Given the description of an element on the screen output the (x, y) to click on. 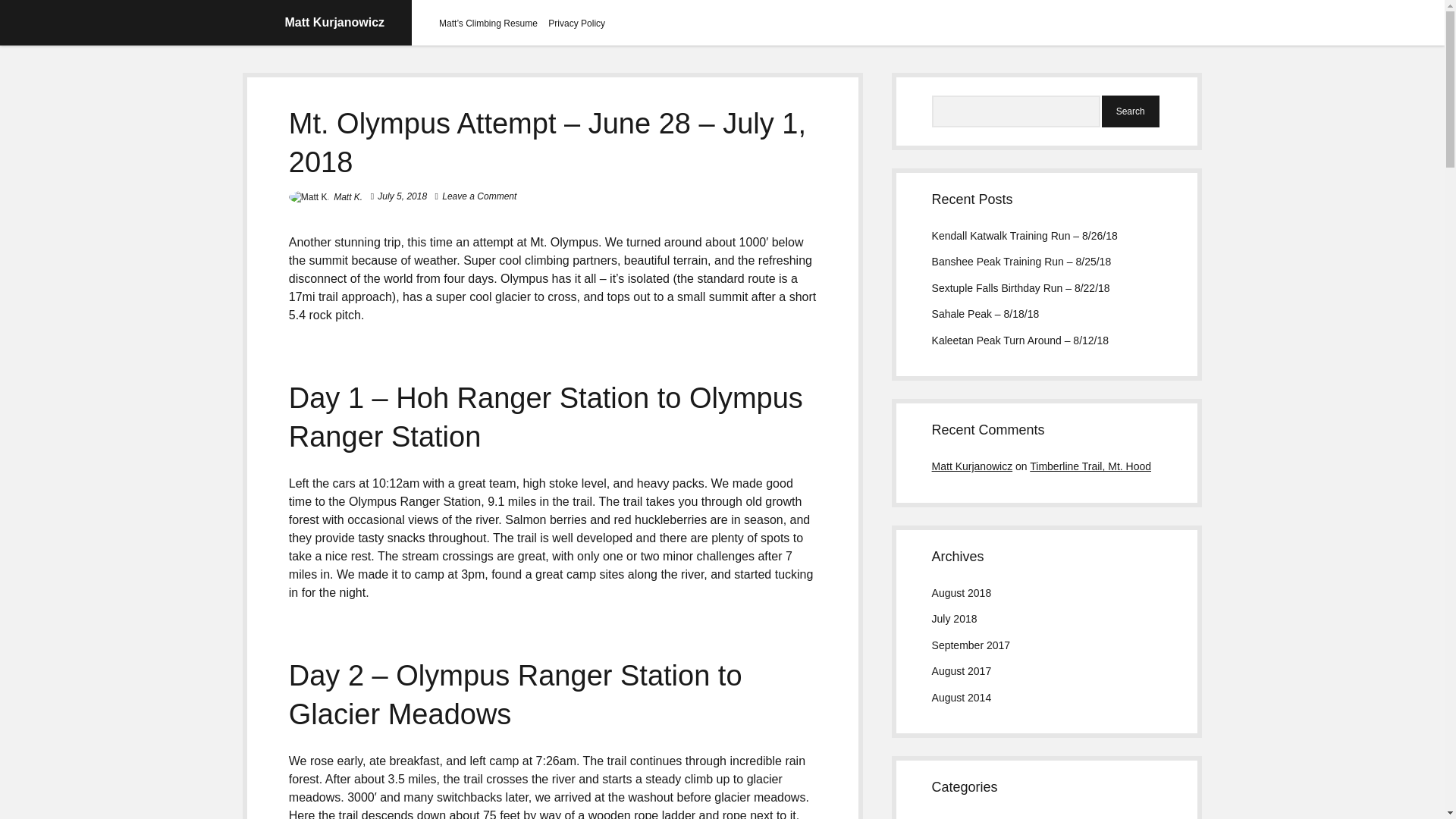
Search (1130, 111)
Search (1130, 111)
Matt Kurjanowicz (335, 21)
Search (1130, 111)
Matt K. (347, 196)
Leave a Comment (479, 195)
July 5, 2018 (401, 195)
Privacy Policy (576, 23)
